Given the description of an element on the screen output the (x, y) to click on. 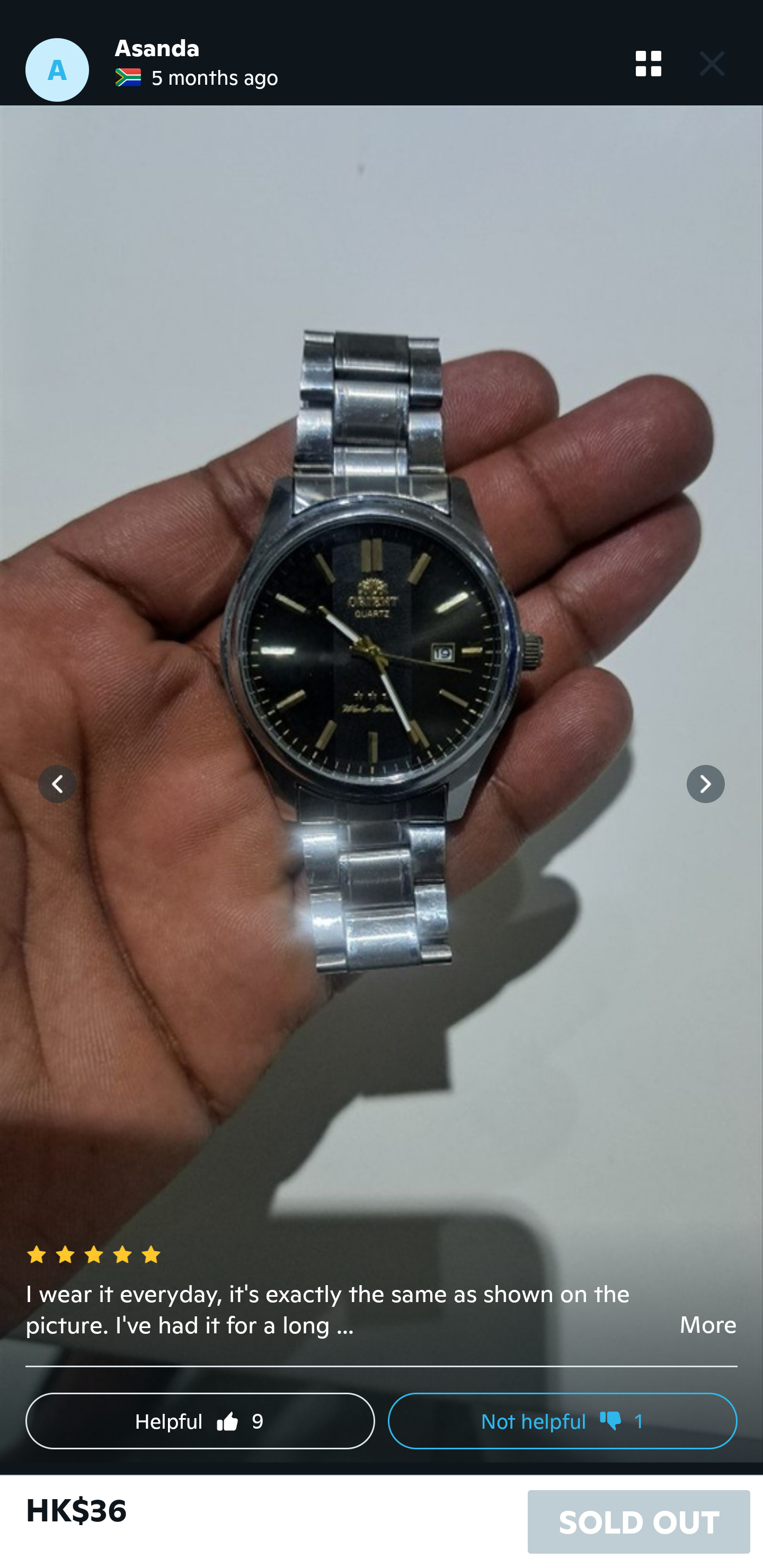
Asanda (156, 47)
A (57, 69)
5 months ago (196, 77)
Helpful 9 (200, 1420)
Not helpful 1 (562, 1420)
